Given the description of an element on the screen output the (x, y) to click on. 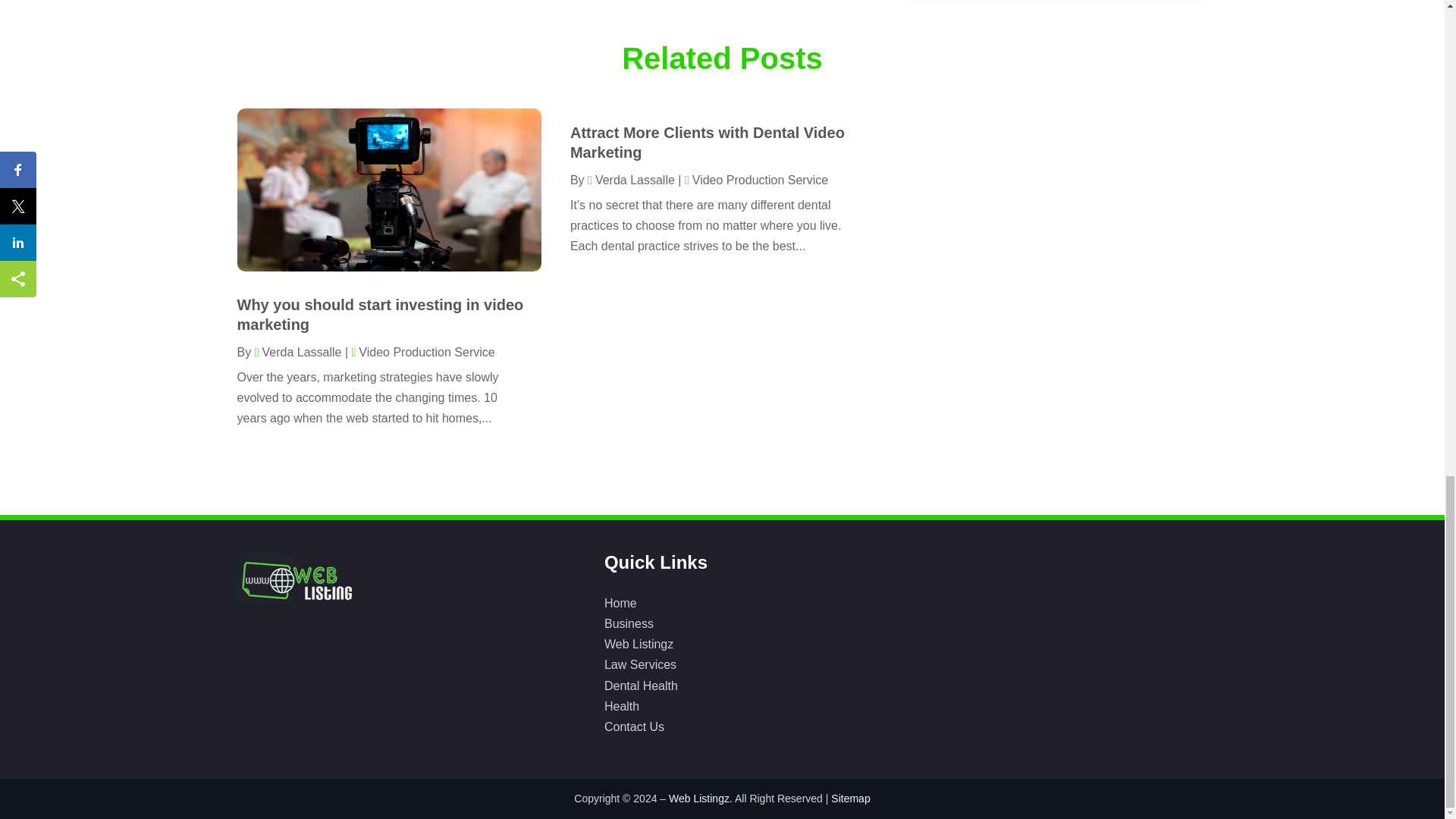
Posts by Verda Lassalle (631, 179)
Posts by Verda Lassalle (298, 351)
Web Listingz - Footer Logo (292, 576)
